Given the description of an element on the screen output the (x, y) to click on. 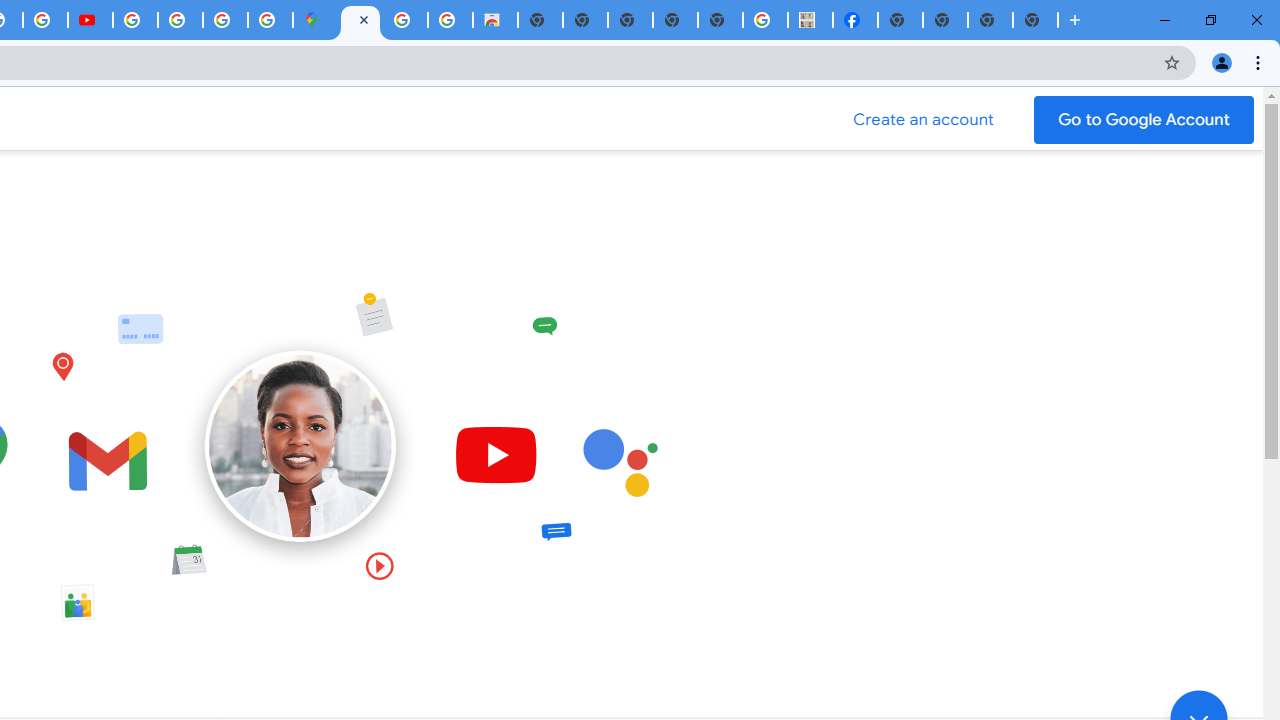
Subscriptions - YouTube (89, 20)
New Tab (900, 20)
Miley Cyrus | Facebook (855, 20)
Google Maps (315, 20)
New Tab (1035, 20)
Create a Google Account (923, 119)
